Given the description of an element on the screen output the (x, y) to click on. 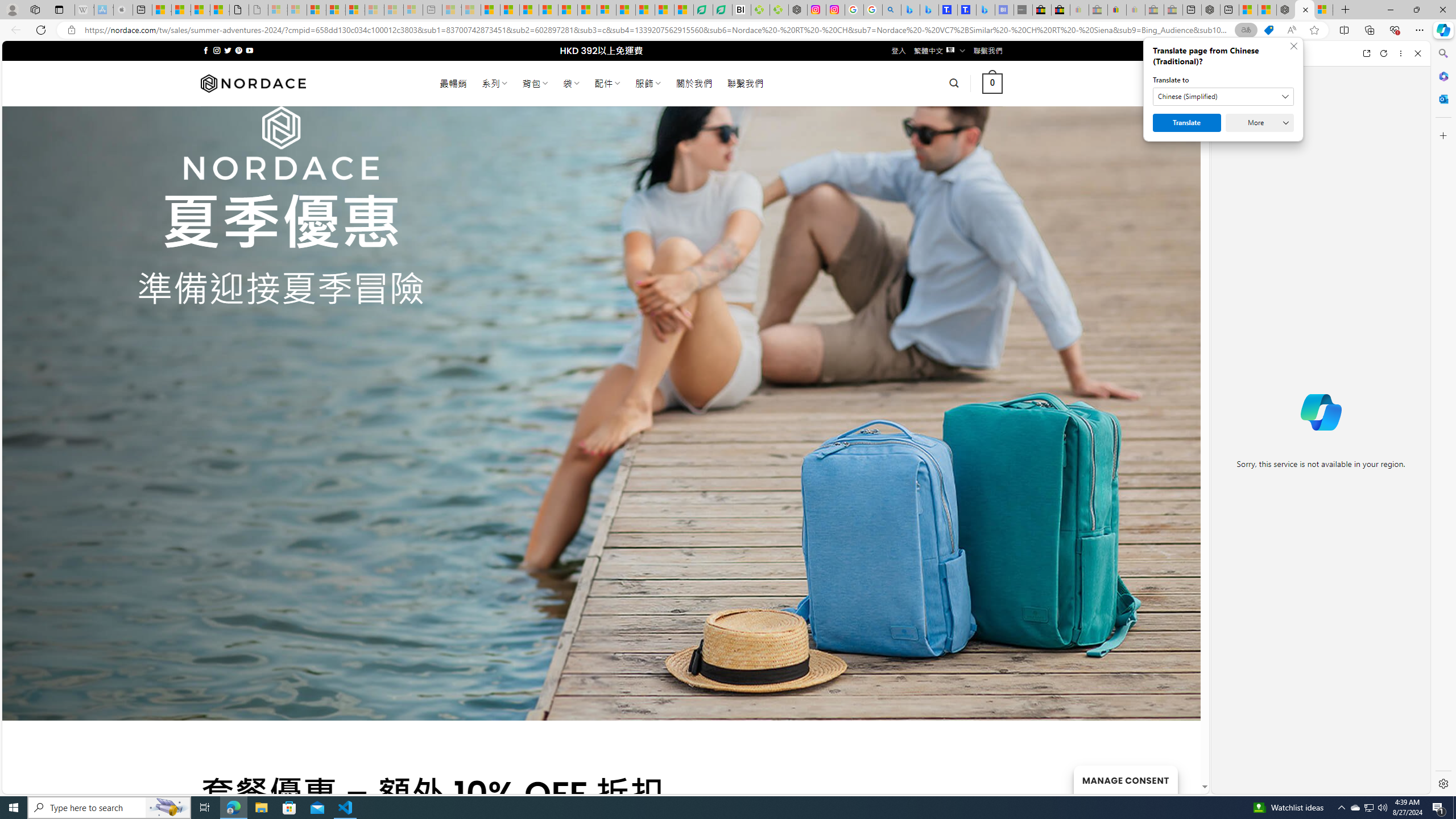
Yard, Garden & Outdoor Living - Sleeping (1173, 9)
New tab - Sleeping (431, 9)
US Heat Deaths Soared To Record High Last Year (625, 9)
Nordace (252, 83)
